Given the description of an element on the screen output the (x, y) to click on. 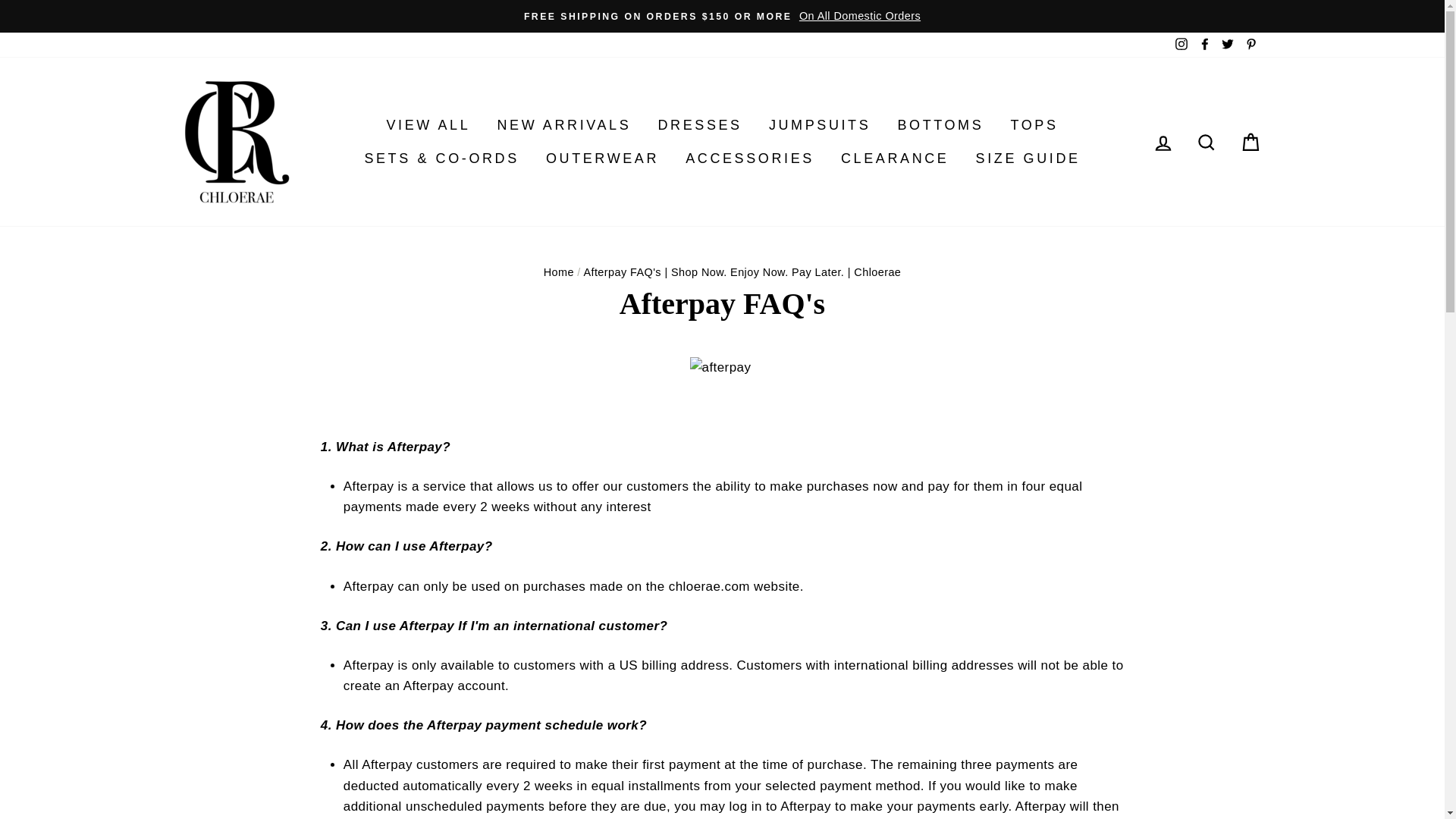
VIEW ALL (427, 124)
Instagram (1181, 44)
ChloeRae on Instagram (1181, 44)
Twitter (1227, 44)
ChloeRae on Facebook (1204, 44)
DRESSES (699, 124)
Facebook (1204, 44)
SEARCH (1205, 141)
CLEARANCE (894, 158)
BOTTOMS (939, 124)
Pinterest (1250, 44)
ChloeRae on Pinterest (1250, 44)
Back to the frontpage (558, 272)
JUMPSUITS (819, 124)
NEW ARRIVALS (563, 124)
